Given the description of an element on the screen output the (x, y) to click on. 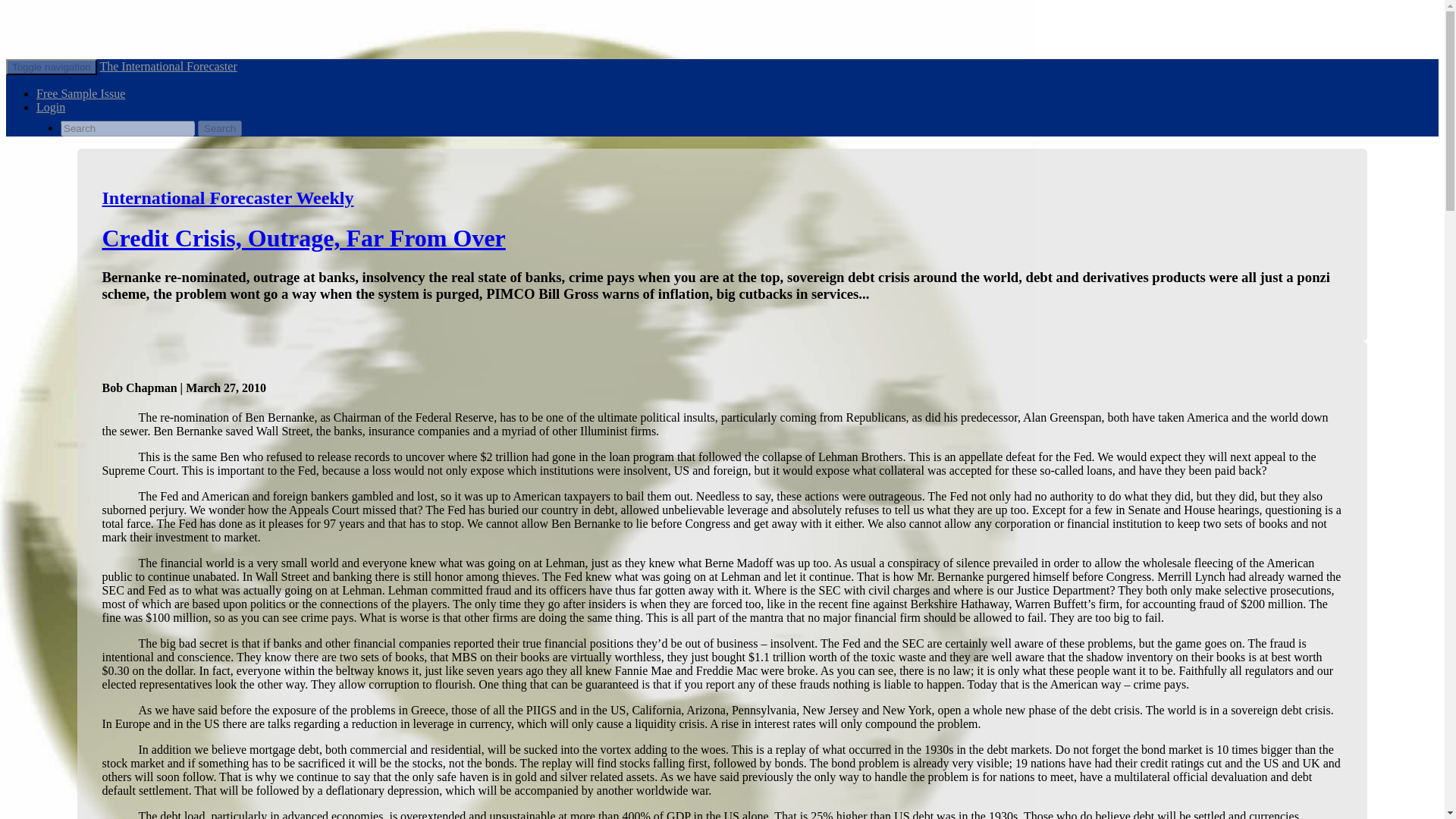
Toggle navigation (51, 66)
Credit Crisis, Outrage, Far From Over (303, 237)
Free Sample Issue (80, 92)
International Forecaster Weekly (227, 198)
Free Sample Issue (80, 92)
Search (219, 128)
The International Forecaster (167, 65)
International Forecaster Weekly (227, 198)
Login (50, 106)
Credit Crisis, Outrage, Far From Over (303, 237)
